Given the description of an element on the screen output the (x, y) to click on. 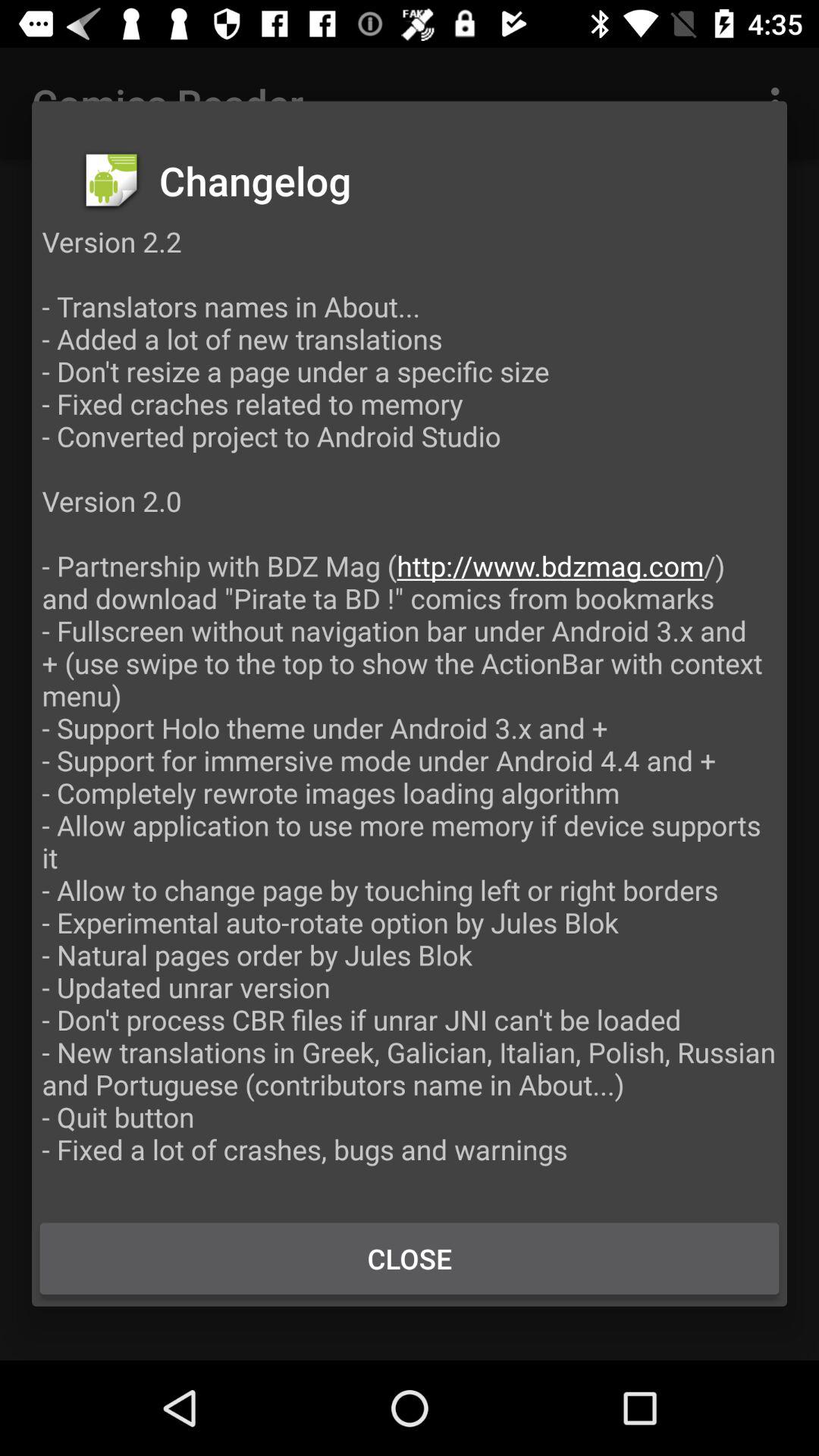
press the version 2 2 app (409, 711)
